Given the description of an element on the screen output the (x, y) to click on. 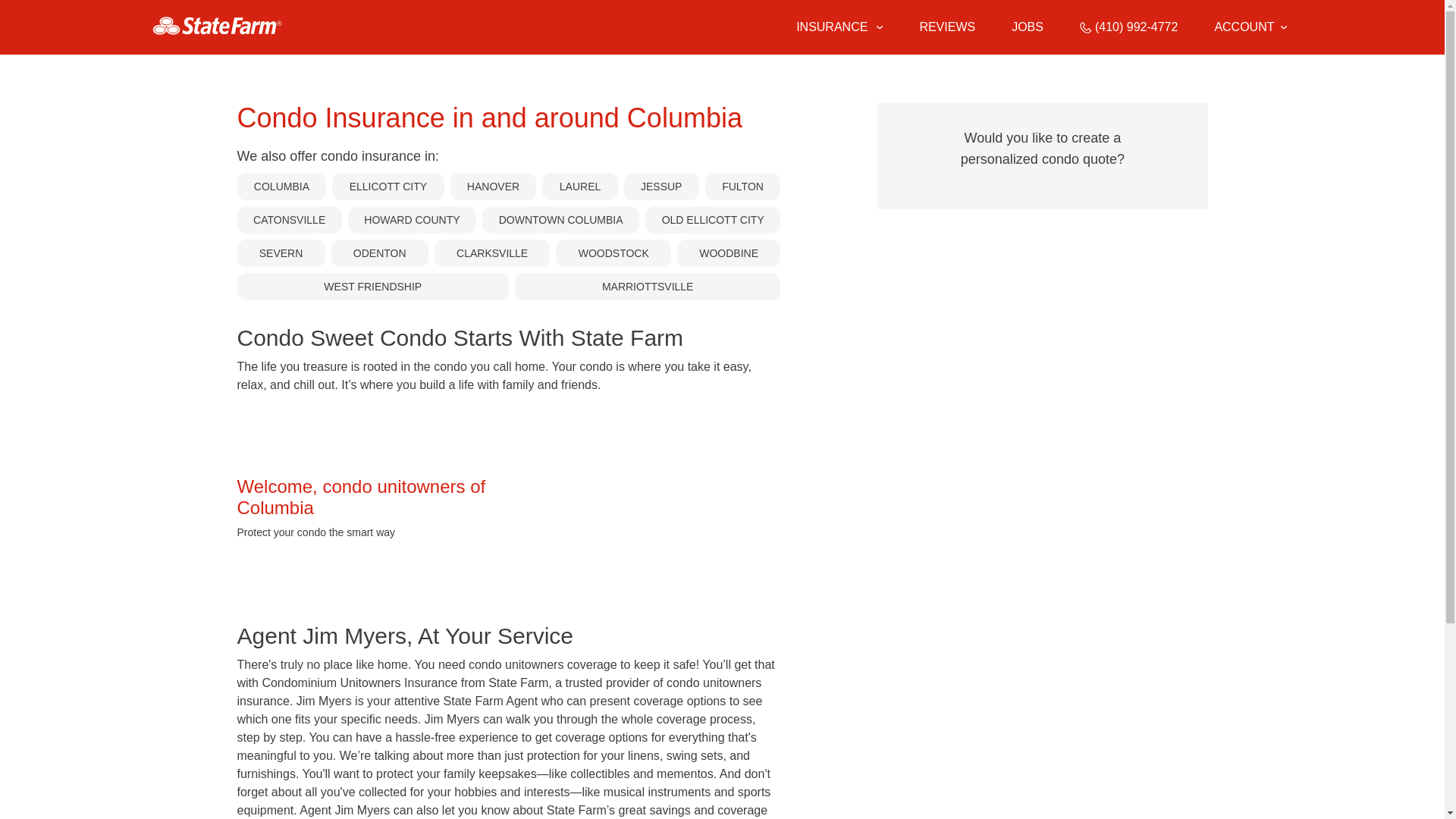
REVIEWS (946, 27)
INSURANCE (830, 27)
Insurance (839, 27)
ACCOUNT (1250, 27)
JOBS (1027, 27)
Account Options (1250, 27)
